Given the description of an element on the screen output the (x, y) to click on. 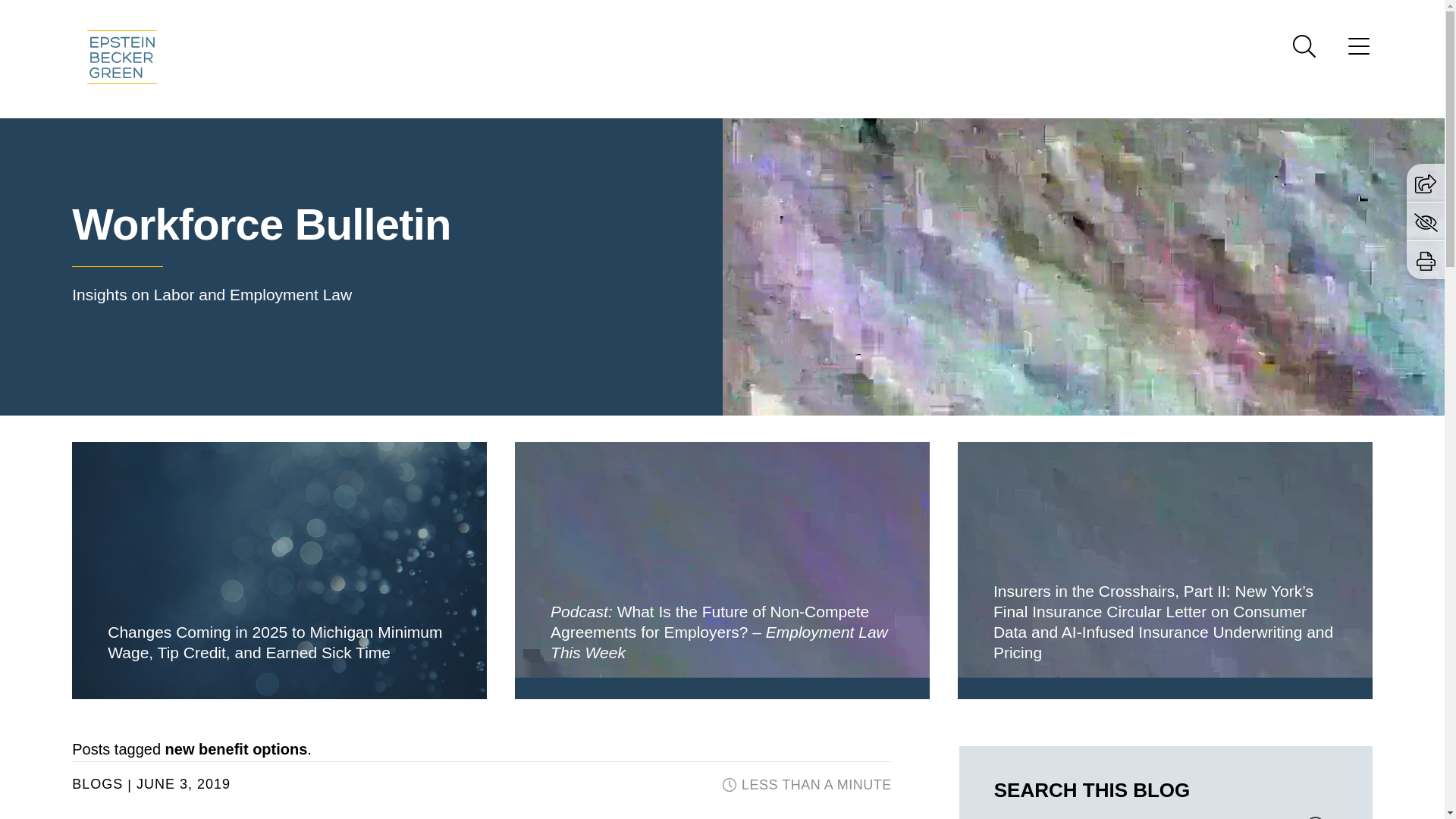
Print (1425, 261)
Share (1425, 182)
Menu (1359, 51)
Go to the privacy settings (1425, 221)
Share (1425, 183)
Main Content (666, 15)
CLOCK (729, 784)
Menu (673, 15)
Main Menu (673, 15)
